Given the description of an element on the screen output the (x, y) to click on. 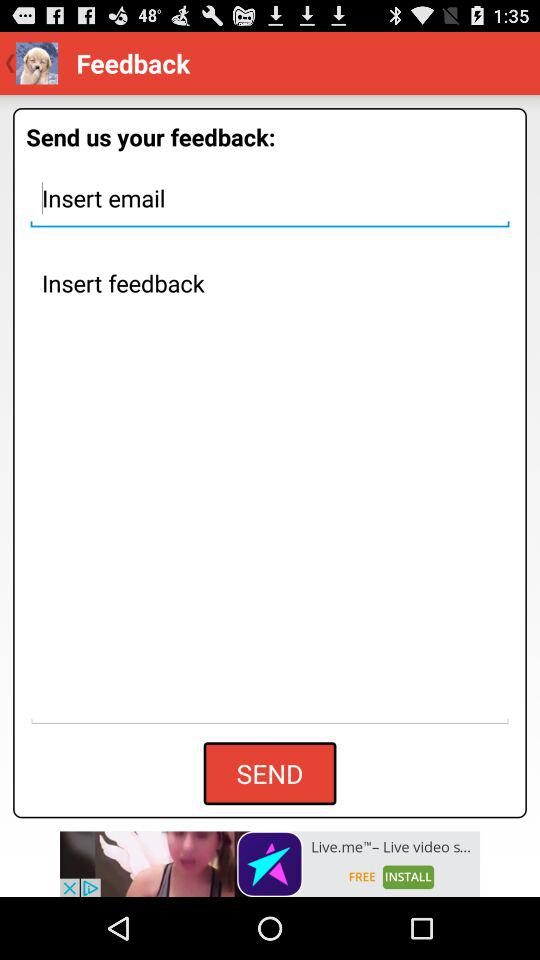
insert feedback (269, 493)
